Given the description of an element on the screen output the (x, y) to click on. 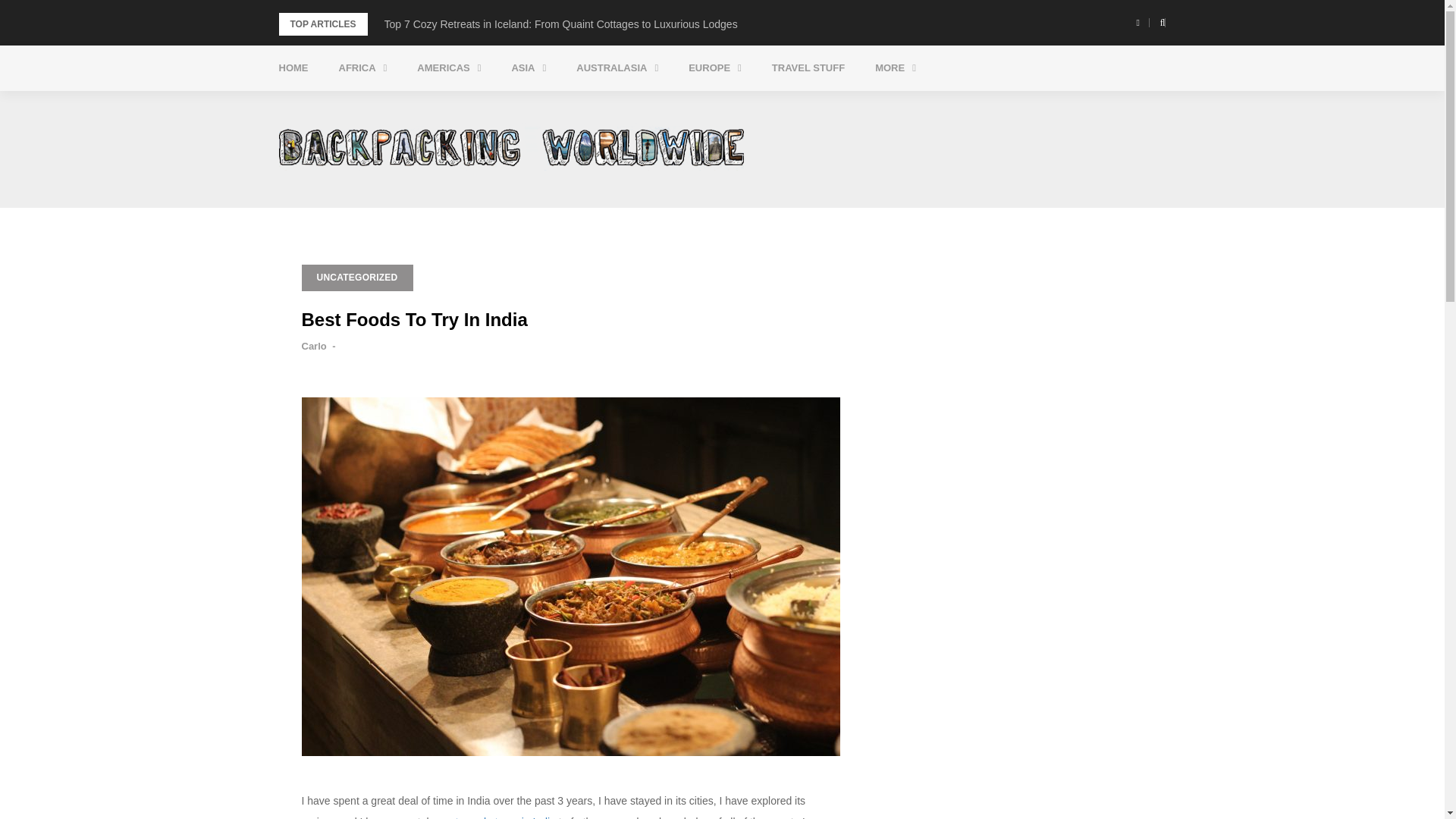
Middle East (598, 105)
Africa (362, 67)
Belize (504, 105)
Algeria (425, 105)
Australia (662, 105)
AMERICAS (448, 67)
Algeria (425, 105)
Belgium (775, 105)
